Given the description of an element on the screen output the (x, y) to click on. 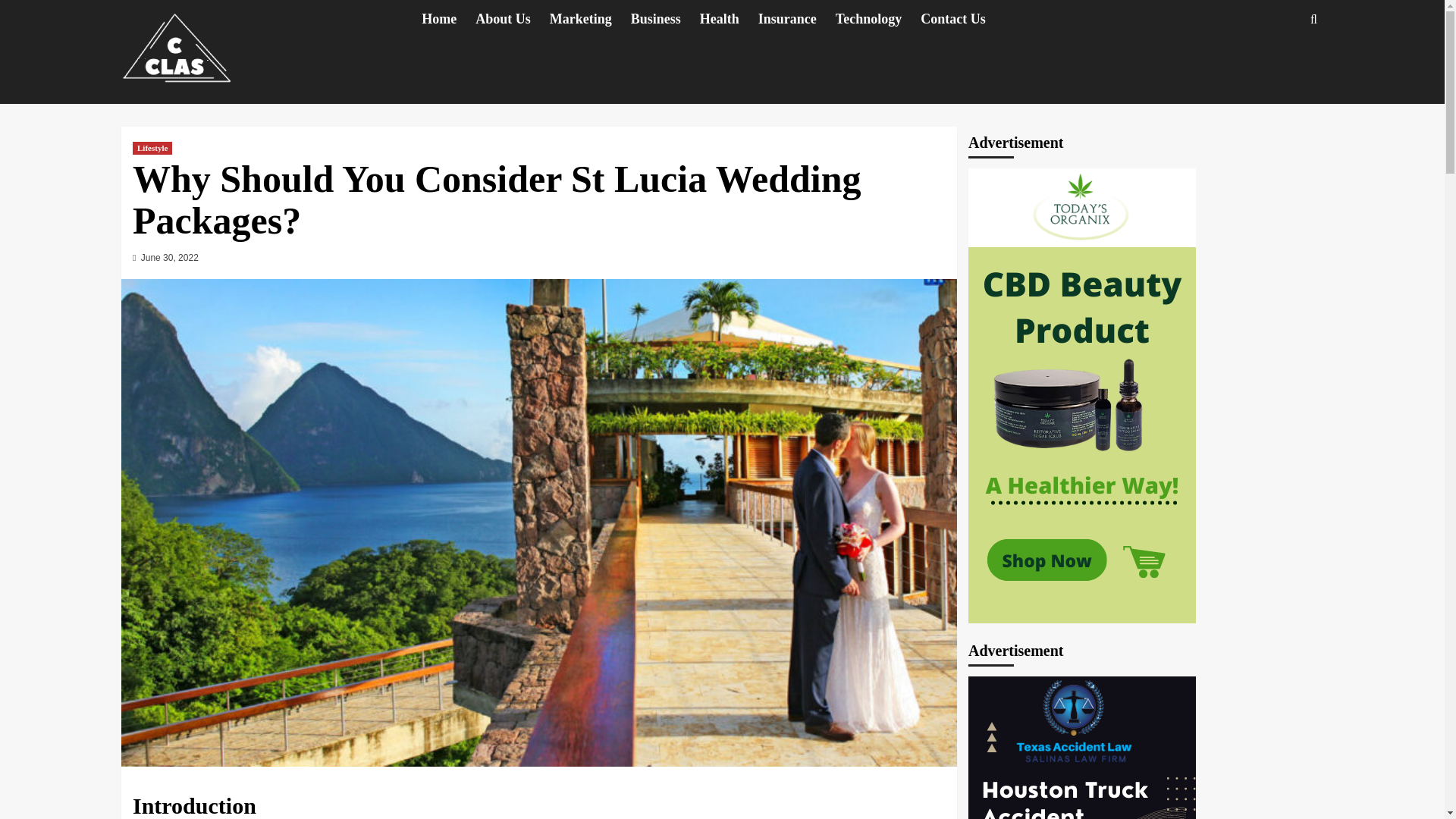
Search (1278, 65)
Marketing (590, 19)
Home (449, 19)
Health (729, 19)
Technology (877, 19)
June 30, 2022 (169, 257)
Contact Us (962, 19)
Search (1313, 18)
Lifestyle (151, 147)
Business (665, 19)
About Us (513, 19)
Advertisement (1081, 747)
Insurance (796, 19)
